Given the description of an element on the screen output the (x, y) to click on. 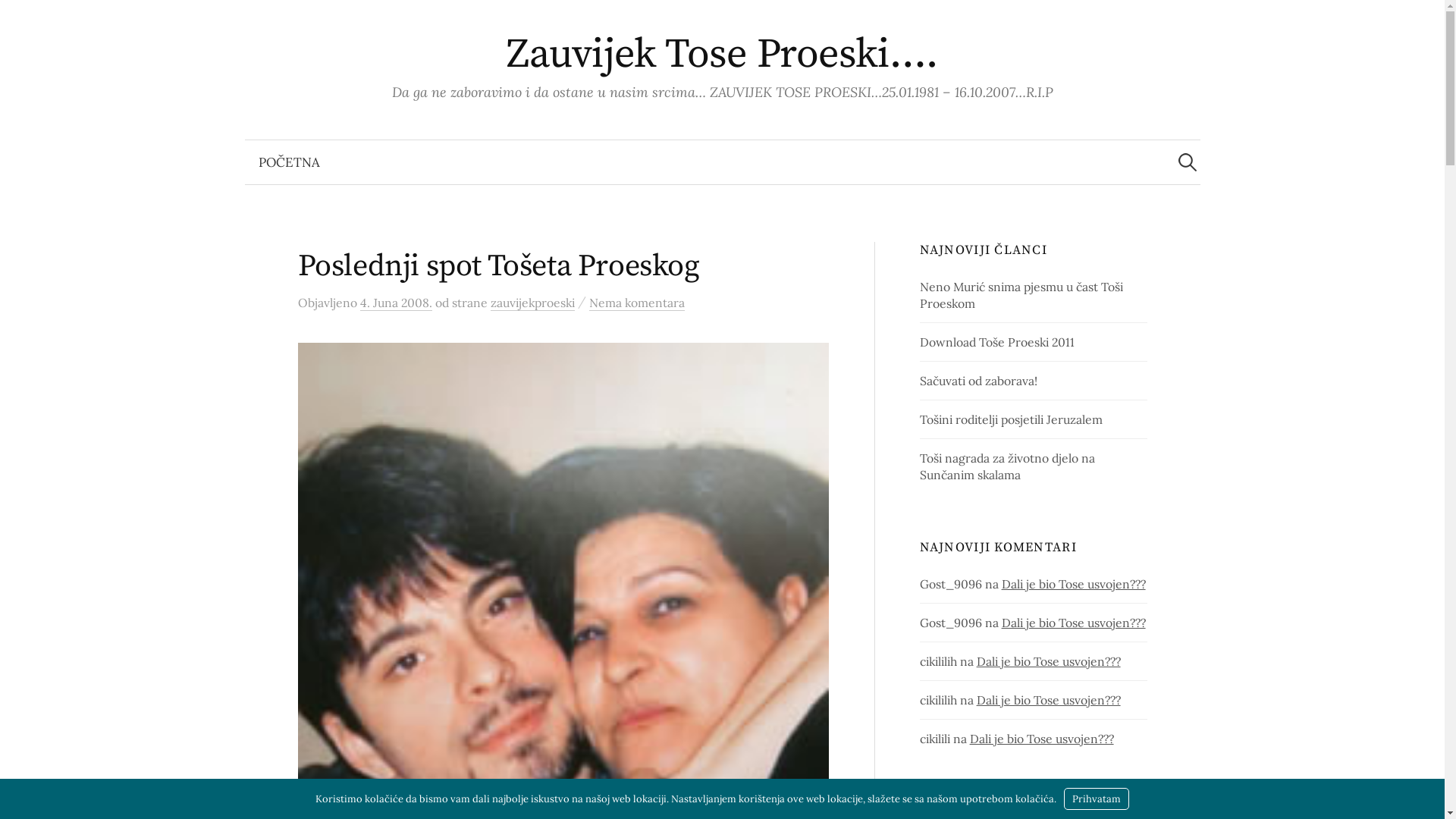
Dali je bio Tose usvojen??? Element type: text (1073, 622)
Dali je bio Tose usvojen??? Element type: text (1073, 583)
Dali je bio Tose usvojen??? Element type: text (1048, 660)
4. Juna 2008. Element type: text (395, 302)
Prihvatam Element type: text (1096, 798)
Pretraga Element type: text (18, 18)
Dali je bio Tose usvojen??? Element type: text (1041, 738)
zauvijekproeski Element type: text (531, 302)
Dali je bio Tose usvojen??? Element type: text (1048, 699)
